Given the description of an element on the screen output the (x, y) to click on. 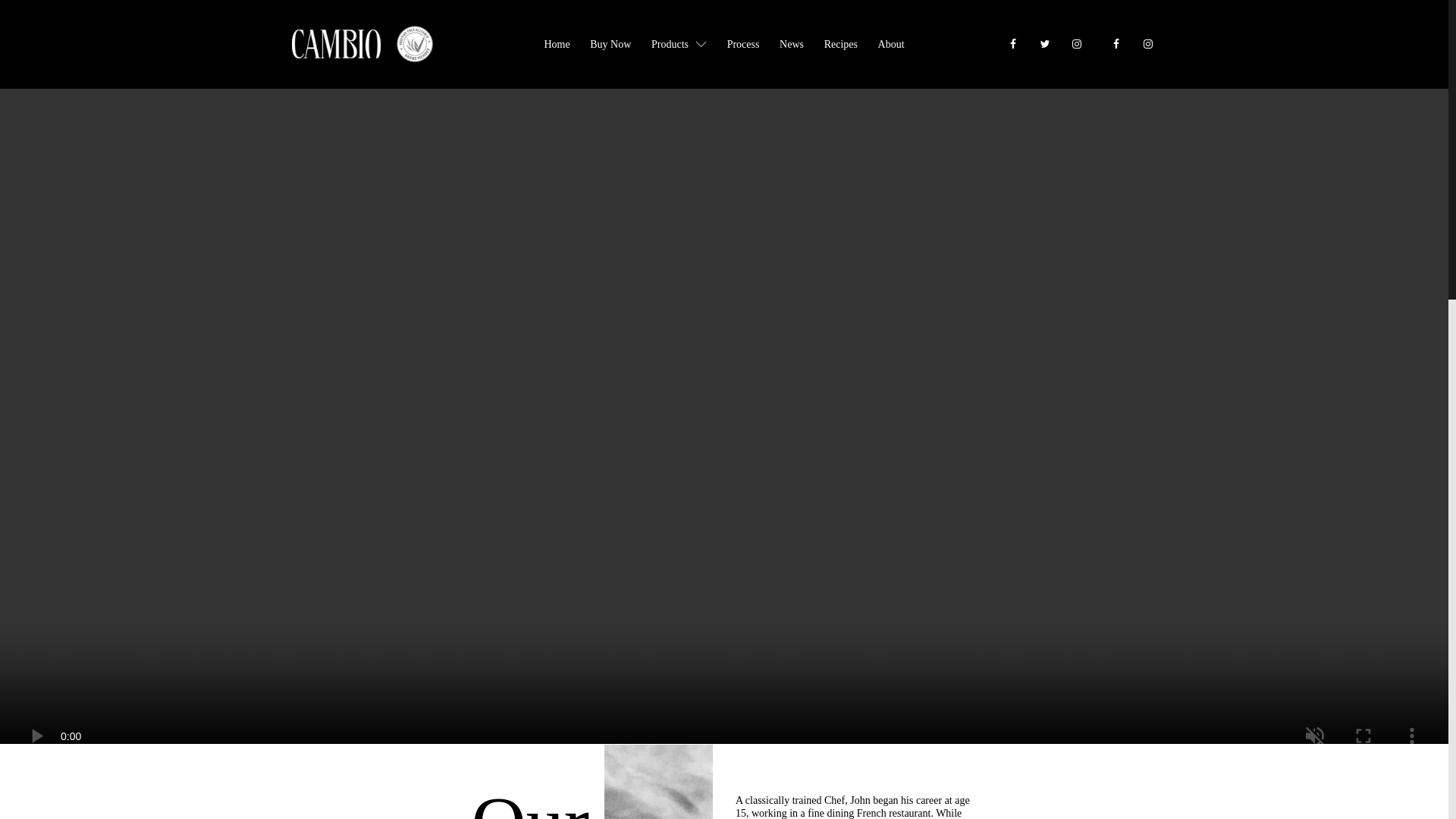
Products (679, 43)
Buy Now (610, 43)
Recipes (840, 43)
Home (556, 43)
About (890, 43)
News (791, 43)
Process (742, 43)
